Given the description of an element on the screen output the (x, y) to click on. 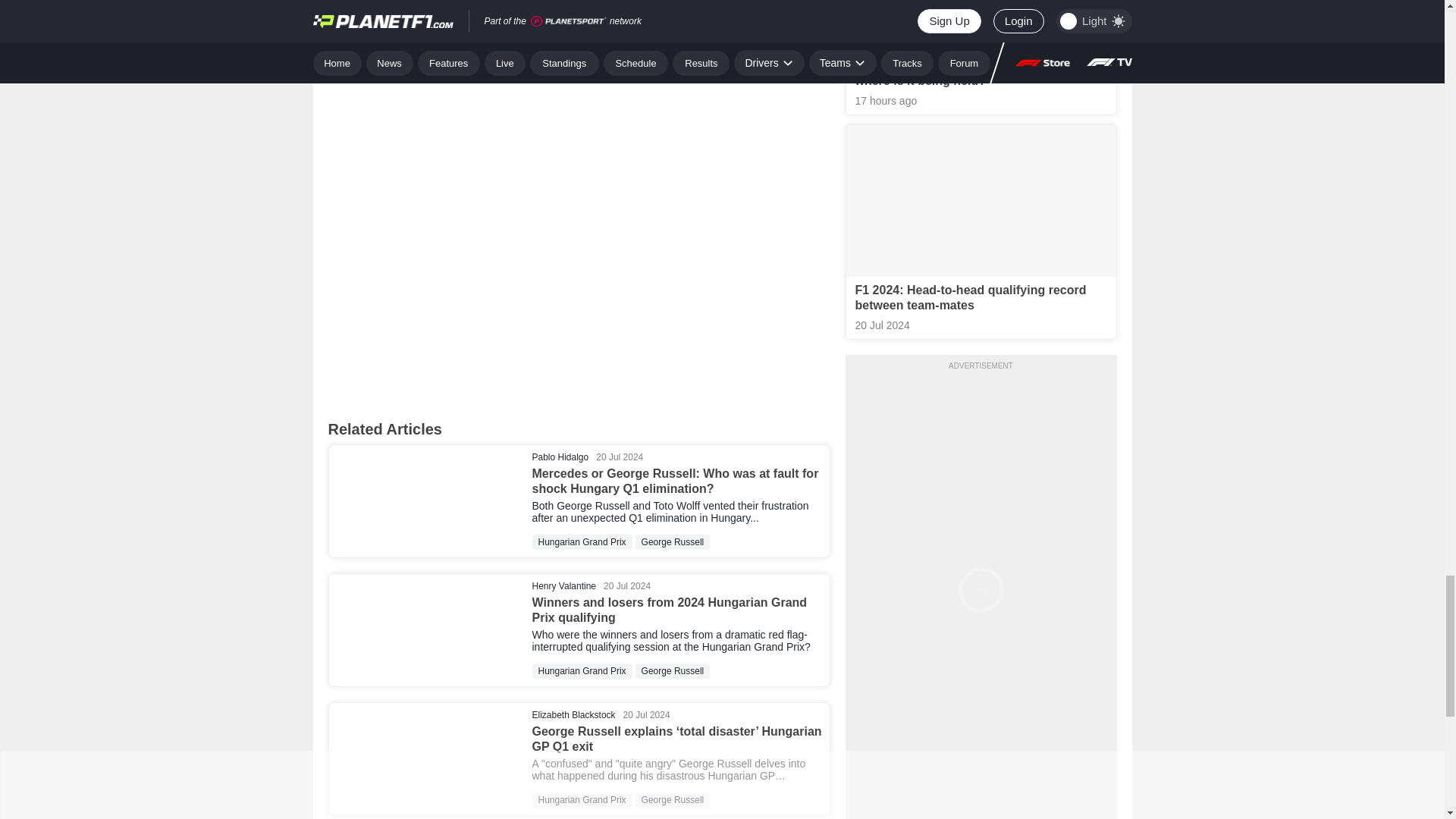
Vuukle Comments Widget (578, 284)
3rd party ad content (579, 57)
